Given the description of an element on the screen output the (x, y) to click on. 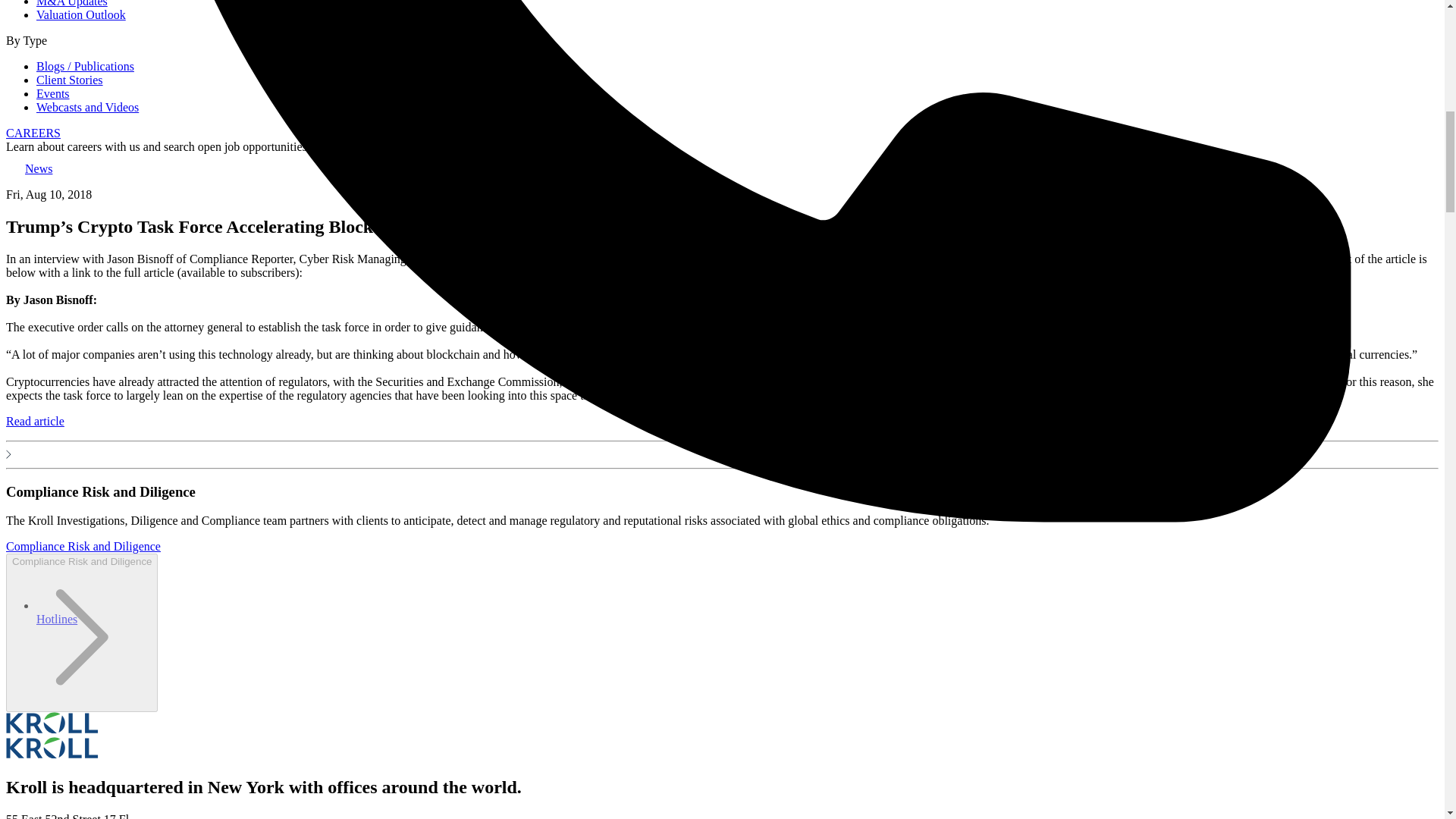
Phone (56, 618)
Hotlines (56, 618)
